Given the description of an element on the screen output the (x, y) to click on. 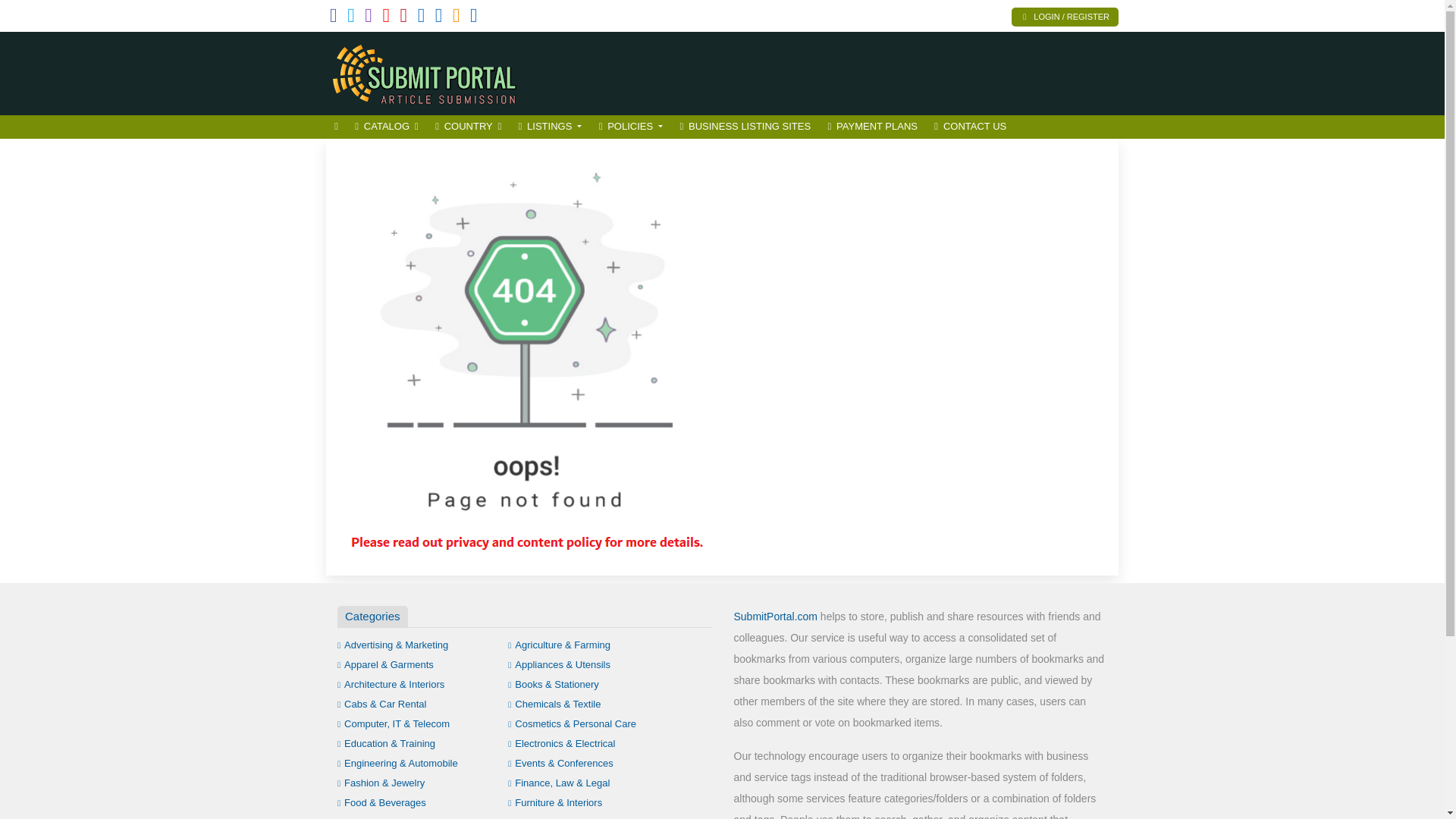
CATALOG (386, 126)
Free Classified Submission and Directory Listing for SEO (428, 71)
